Given the description of an element on the screen output the (x, y) to click on. 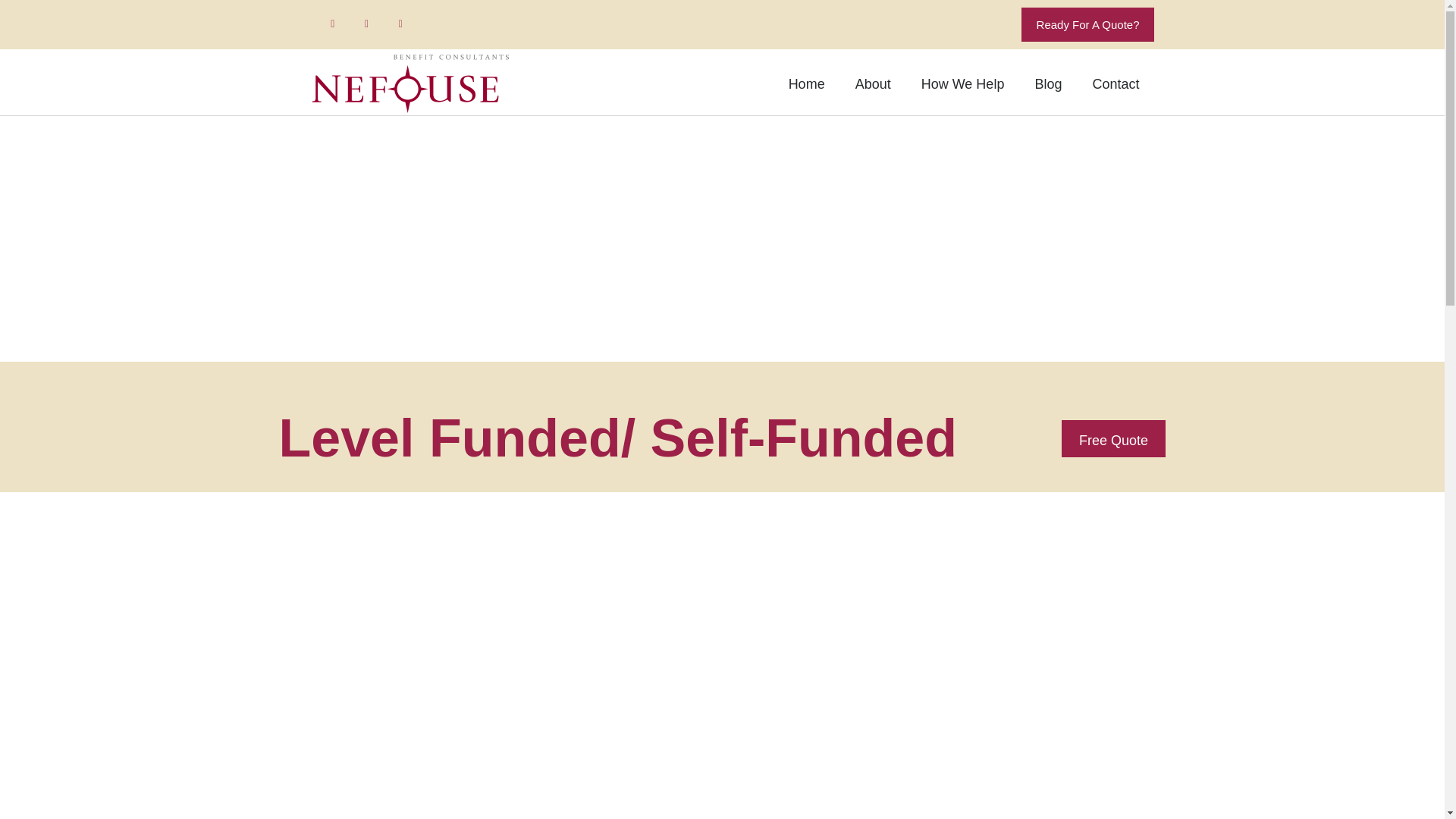
Ready For A Quote? (1088, 24)
Contact (1115, 84)
Blog (1048, 84)
How We Help (962, 84)
Home (806, 84)
About (872, 84)
